Given the description of an element on the screen output the (x, y) to click on. 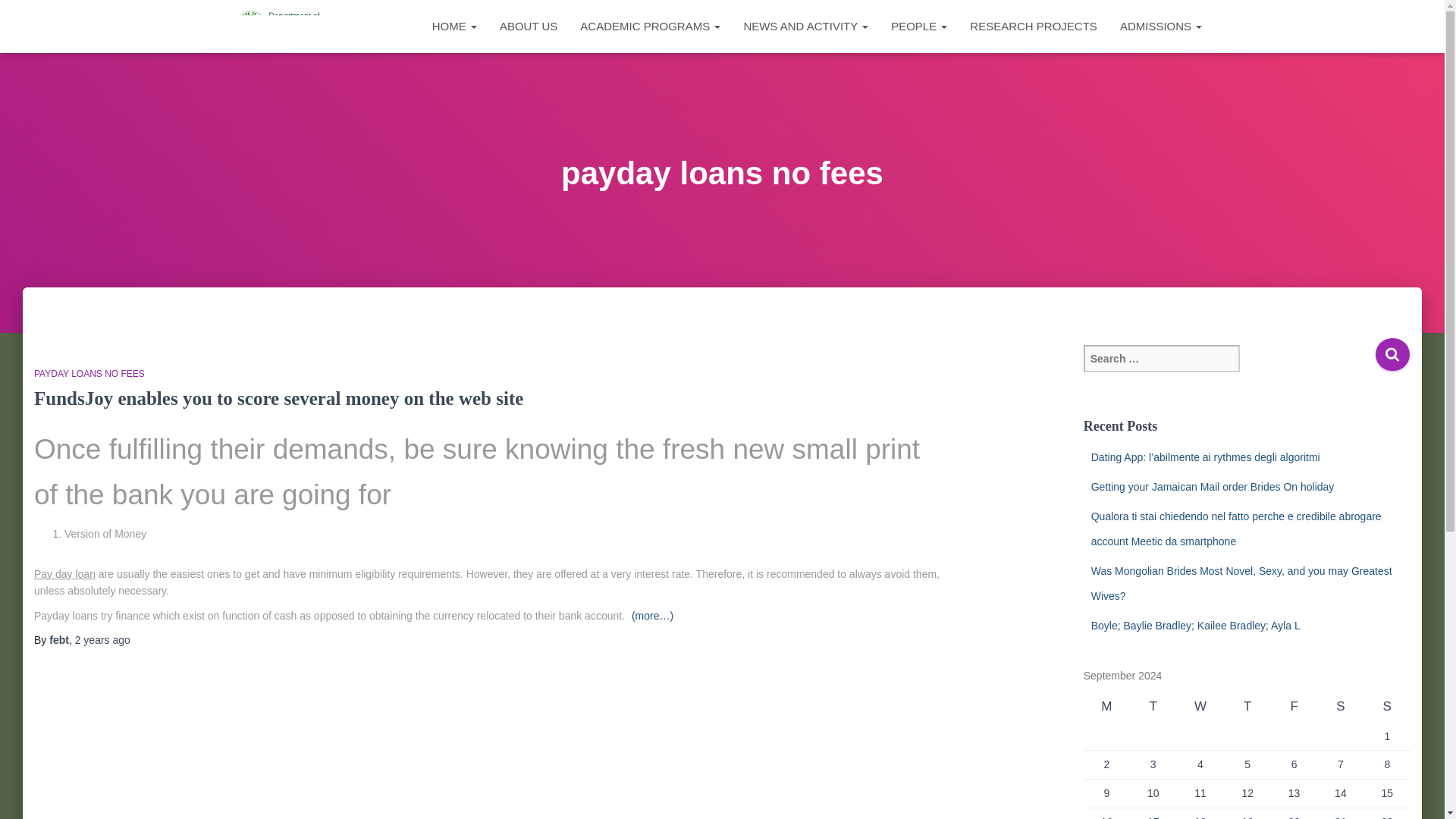
NEWS AND ACTIVITY (805, 26)
Department of Food, Agriculture and Bioresources (282, 26)
HOME (453, 26)
About Us (528, 26)
ACADEMIC PROGRAMS (650, 26)
Search (1392, 354)
RESEARCH PROJECTS (1033, 26)
febt (58, 639)
